Given the description of an element on the screen output the (x, y) to click on. 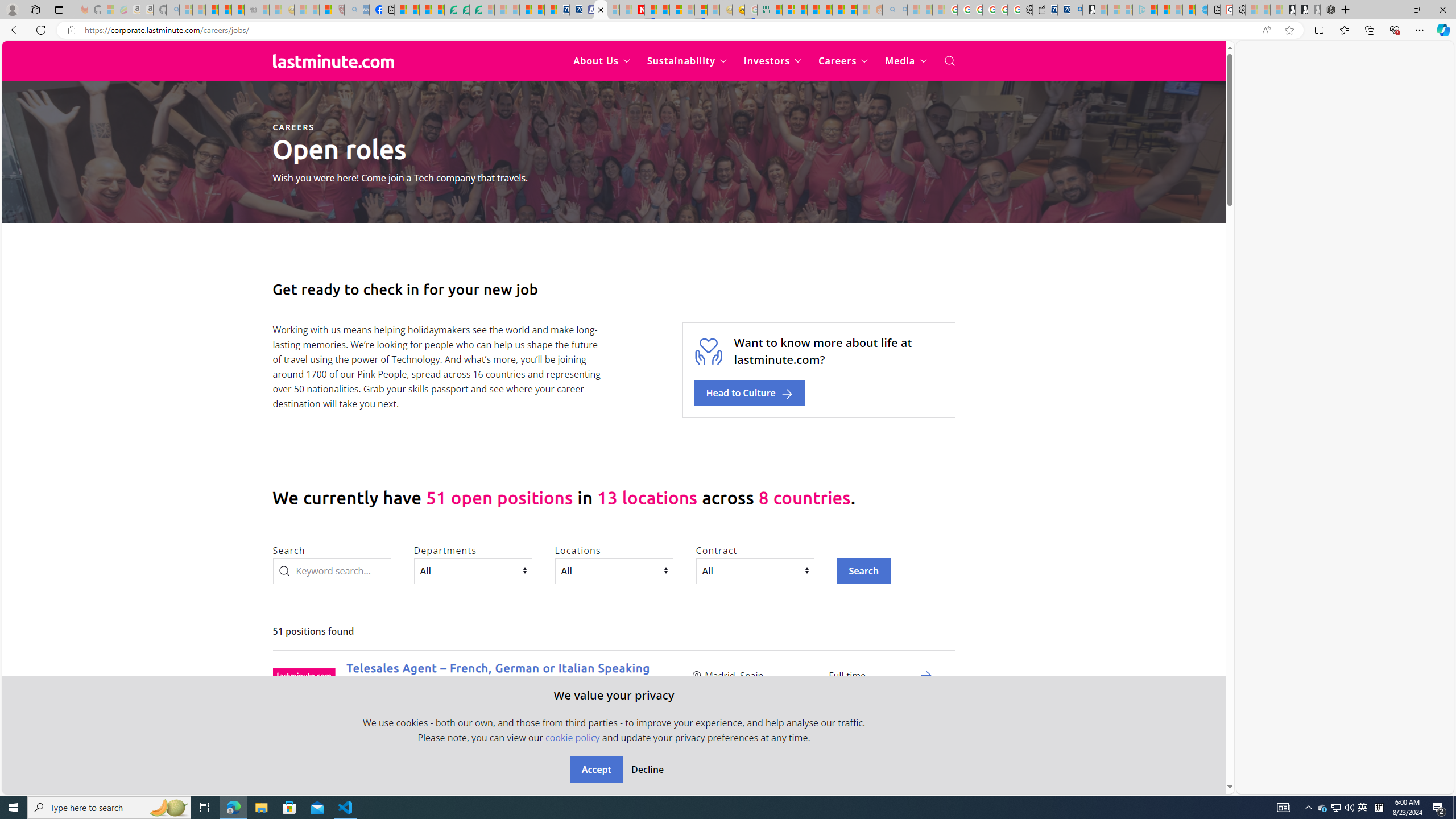
Open Search (949, 60)
Home | Sky Blue Bikes - Sky Blue Bikes (1201, 9)
CAREERS (293, 126)
Careers (842, 60)
Personal Profile (12, 9)
Investors (773, 60)
Minimize (1390, 9)
